Given the description of an element on the screen output the (x, y) to click on. 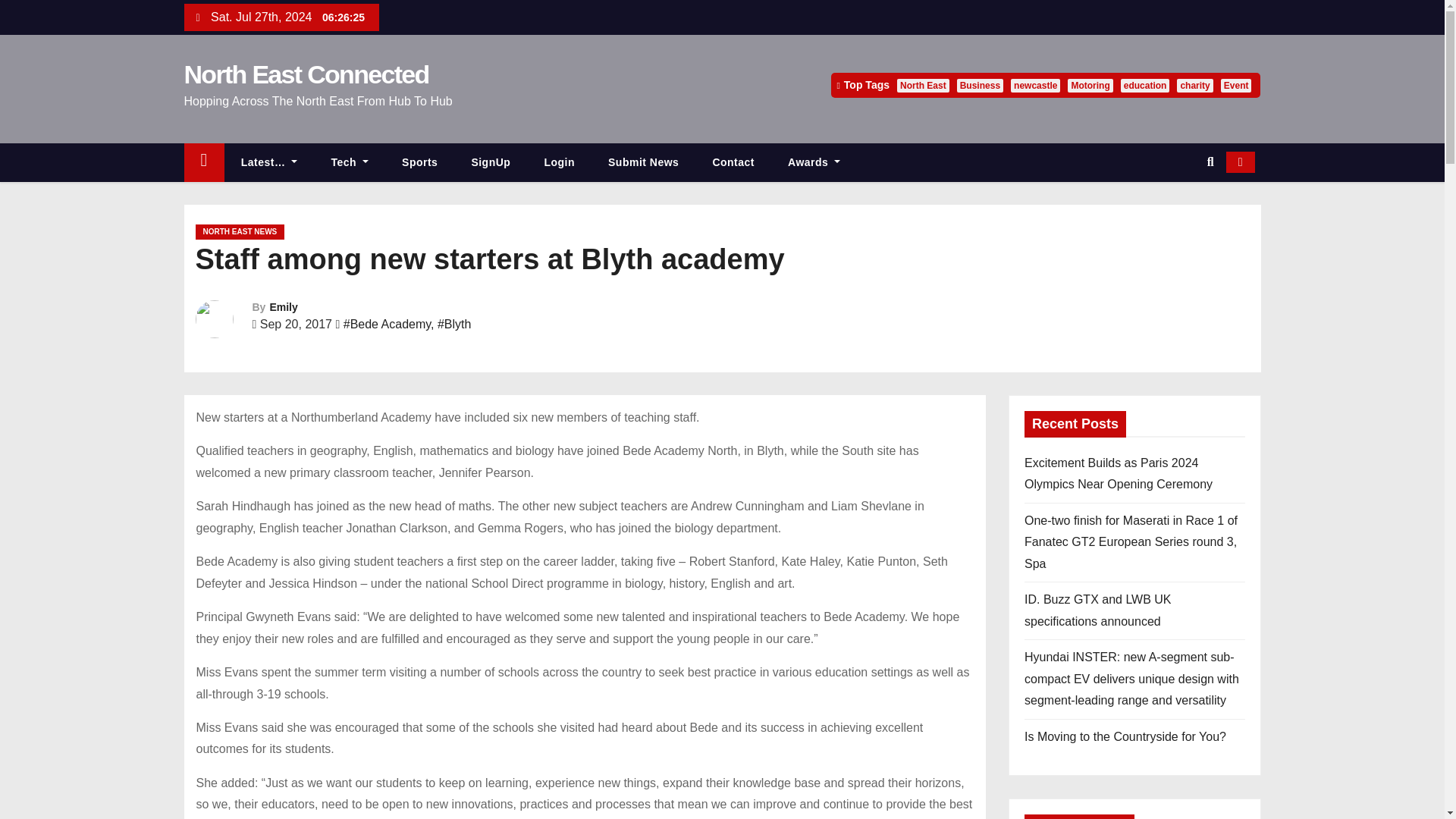
Emily (283, 306)
Login (559, 162)
Tech (349, 162)
SignUp (490, 162)
Event (1236, 85)
Business (979, 85)
Home (203, 162)
Tech (349, 162)
Motoring (1089, 85)
North East Connected (305, 73)
Sports (419, 162)
Sports (419, 162)
education (1145, 85)
charity (1194, 85)
Login (559, 162)
